Given the description of an element on the screen output the (x, y) to click on. 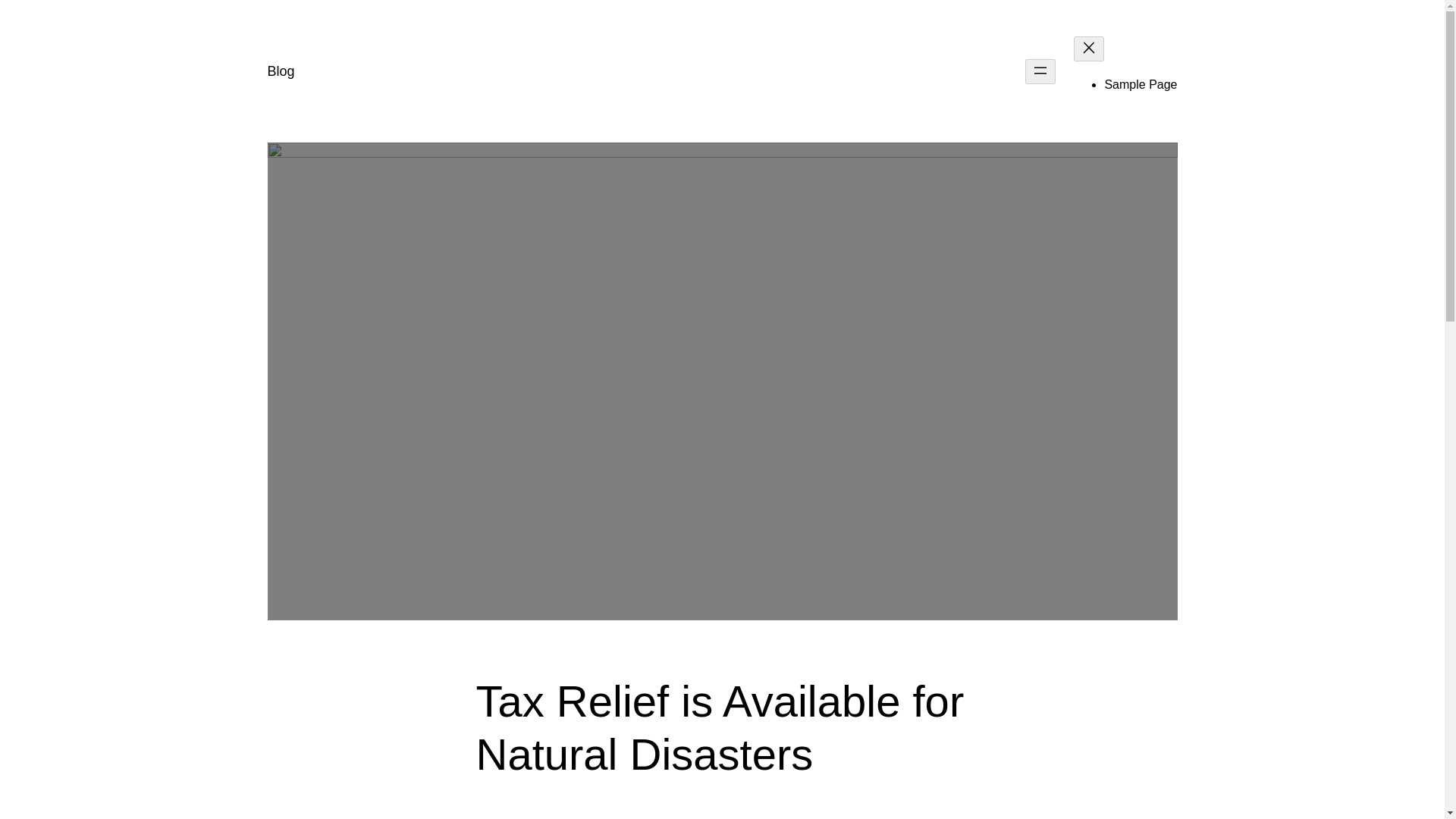
Sample Page (1139, 83)
Blog (280, 70)
